Given the description of an element on the screen output the (x, y) to click on. 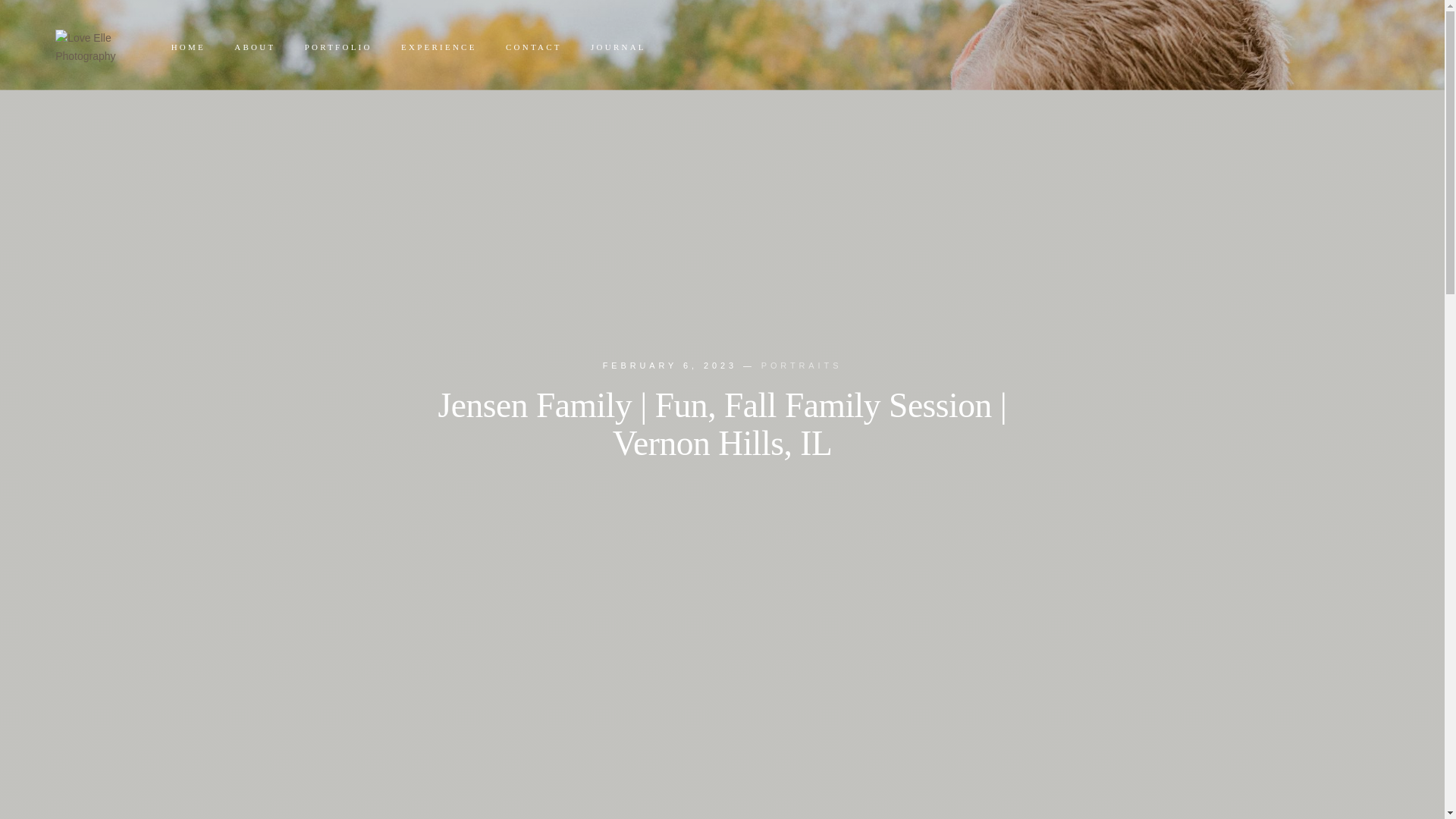
PORTFOLIO (338, 47)
CONTACT (534, 47)
EXPERIENCE (439, 47)
HOME (187, 47)
ABOUT (254, 47)
JOURNAL (618, 47)
PORTRAITS (802, 364)
